Given the description of an element on the screen output the (x, y) to click on. 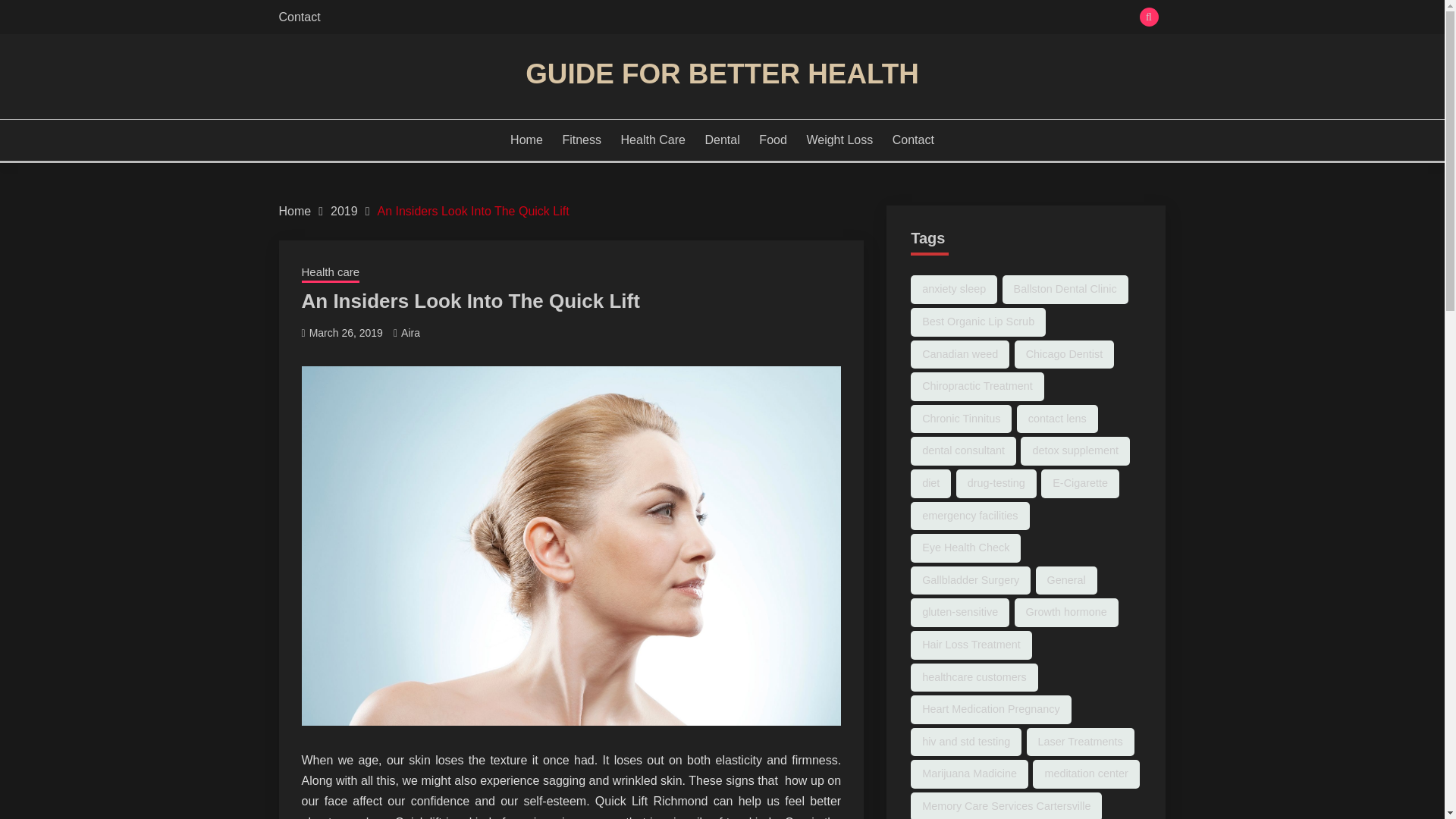
Food (772, 140)
GUIDE FOR BETTER HEALTH (721, 73)
Health Care (653, 140)
Contact (299, 16)
Home (295, 210)
Health care (330, 273)
Fitness (581, 140)
Dental (721, 140)
anxiety sleep (954, 289)
March 26, 2019 (345, 332)
Canadian weed (960, 354)
Best Organic Lip Scrub (978, 321)
Home (527, 140)
Search (832, 18)
An Insiders Look Into The Quick Lift (473, 210)
